Given the description of an element on the screen output the (x, y) to click on. 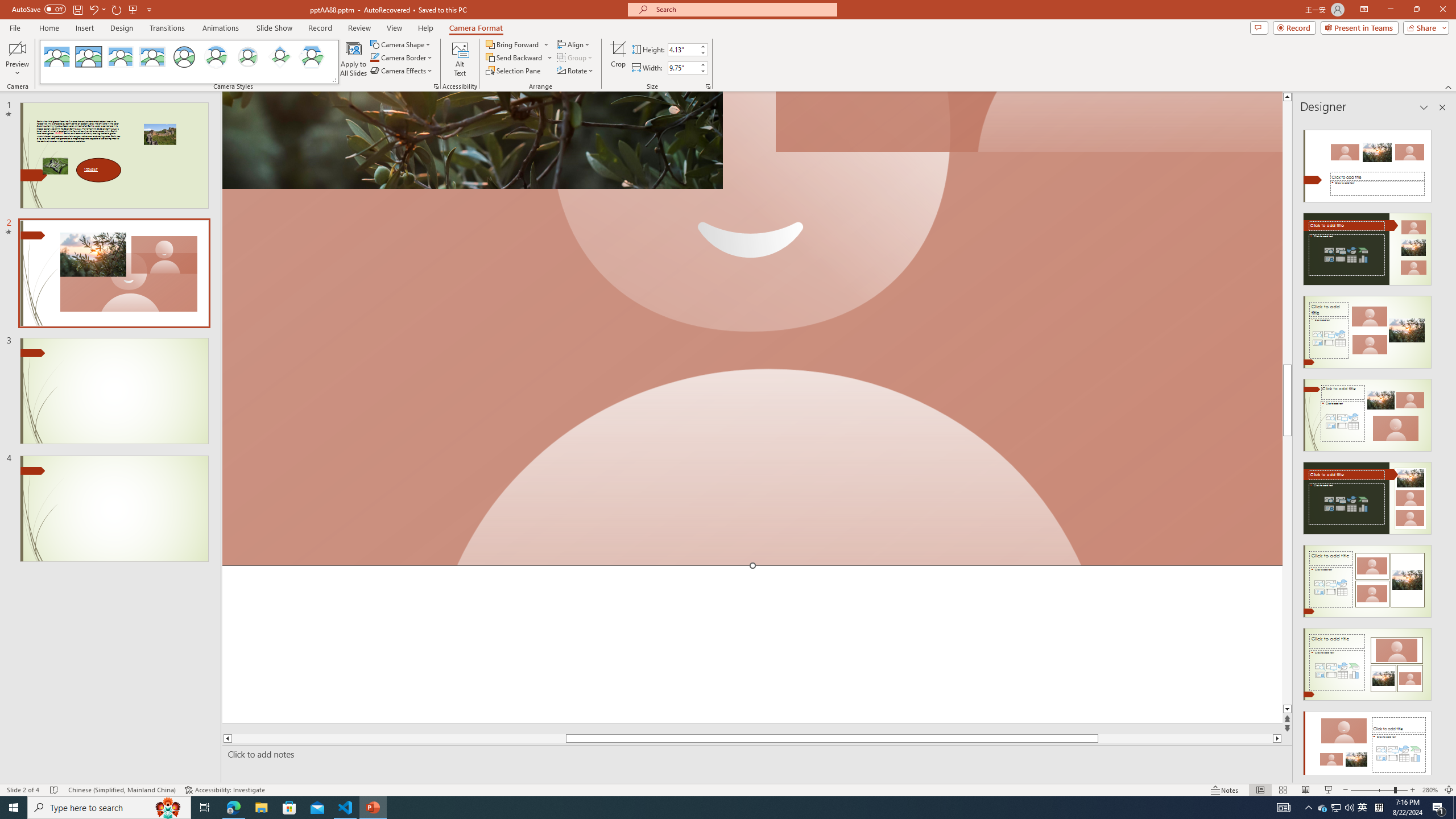
Alt Text (459, 58)
Less (702, 70)
Cameo Width (682, 67)
Class: NetUIScrollBar (1441, 447)
